Given the description of an element on the screen output the (x, y) to click on. 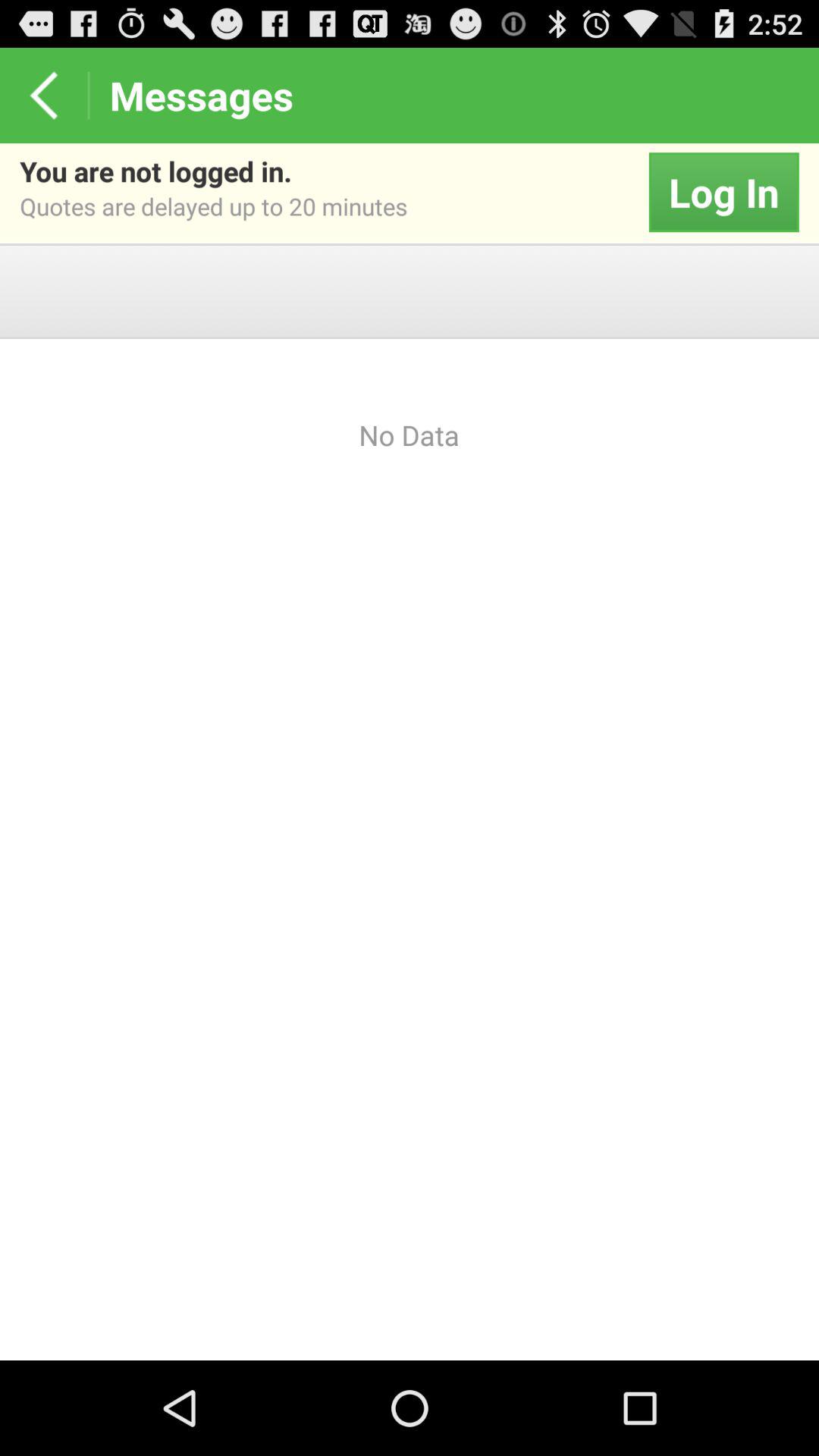
jump until log in button (723, 193)
